Given the description of an element on the screen output the (x, y) to click on. 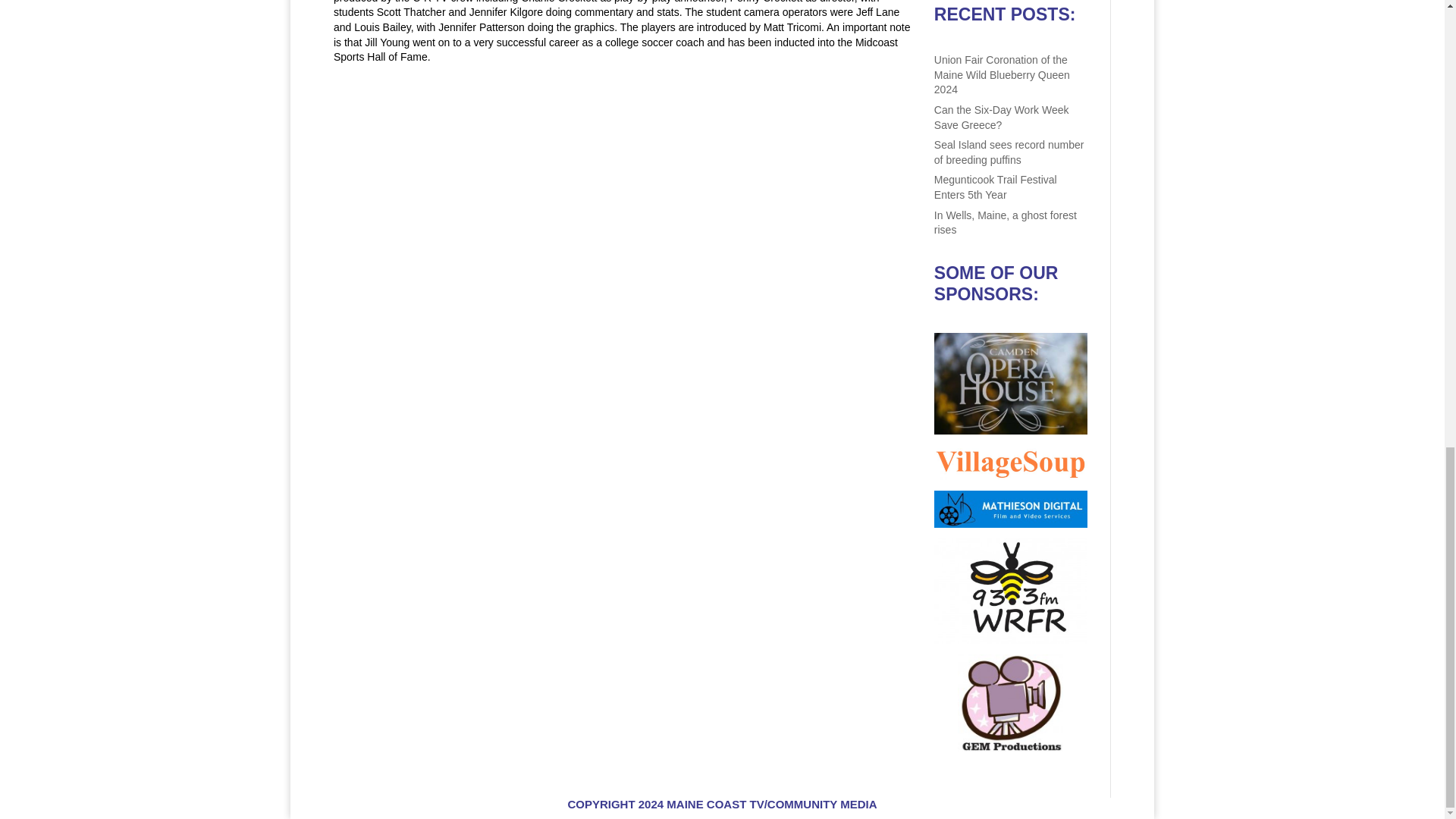
Megunticook Trail Festival Enters 5th Year (995, 186)
Can the Six-Day Work Week Save Greece? (1001, 117)
Seal Island sees record number of breeding puffins (1009, 152)
In Wells, Maine, a ghost forest rises (1005, 222)
Union Fair Coronation of the Maine Wild Blueberry Queen 2024 (1002, 74)
